Given the description of an element on the screen output the (x, y) to click on. 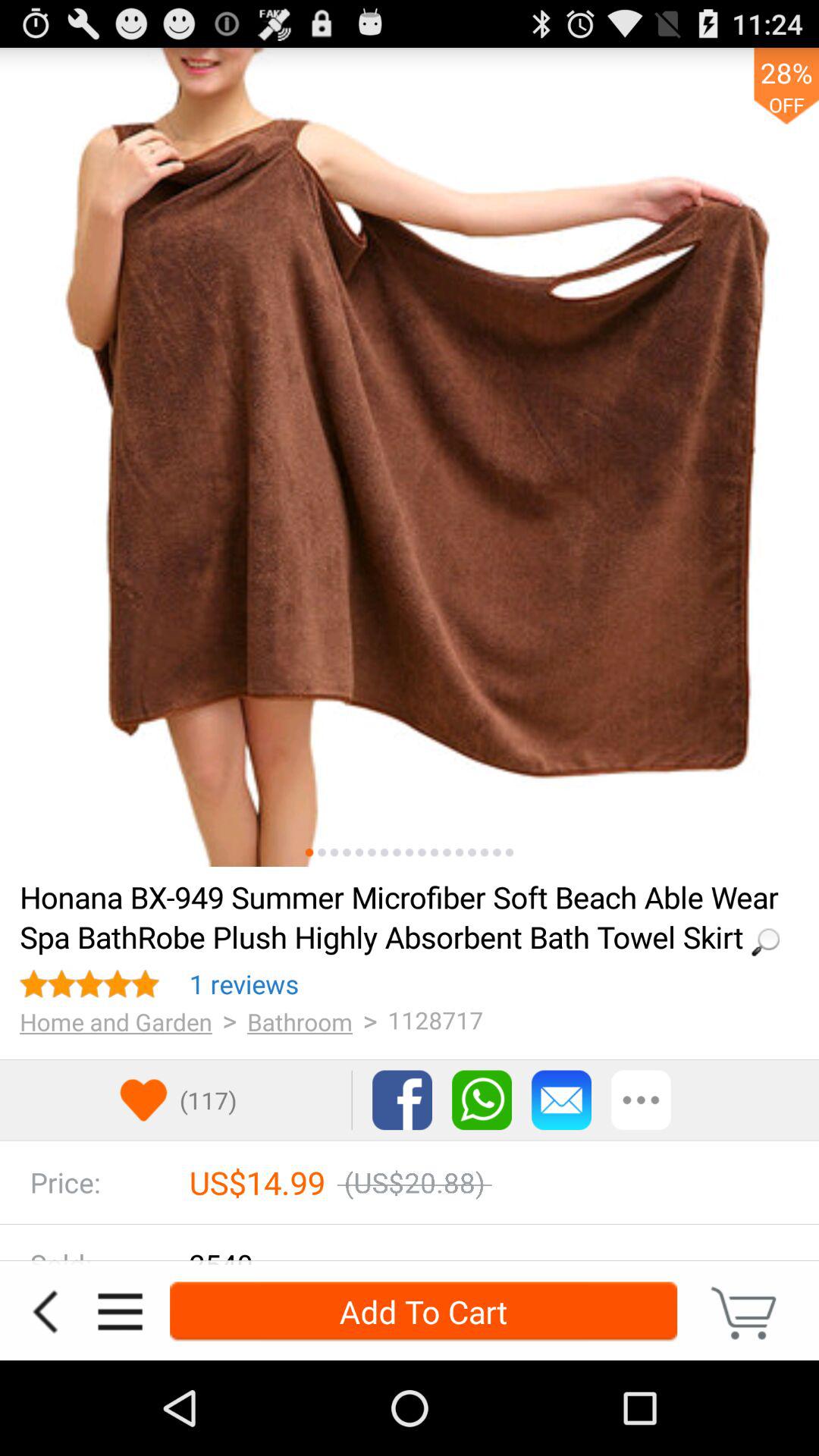
jump to 1 reviews icon (244, 983)
